Given the description of an element on the screen output the (x, y) to click on. 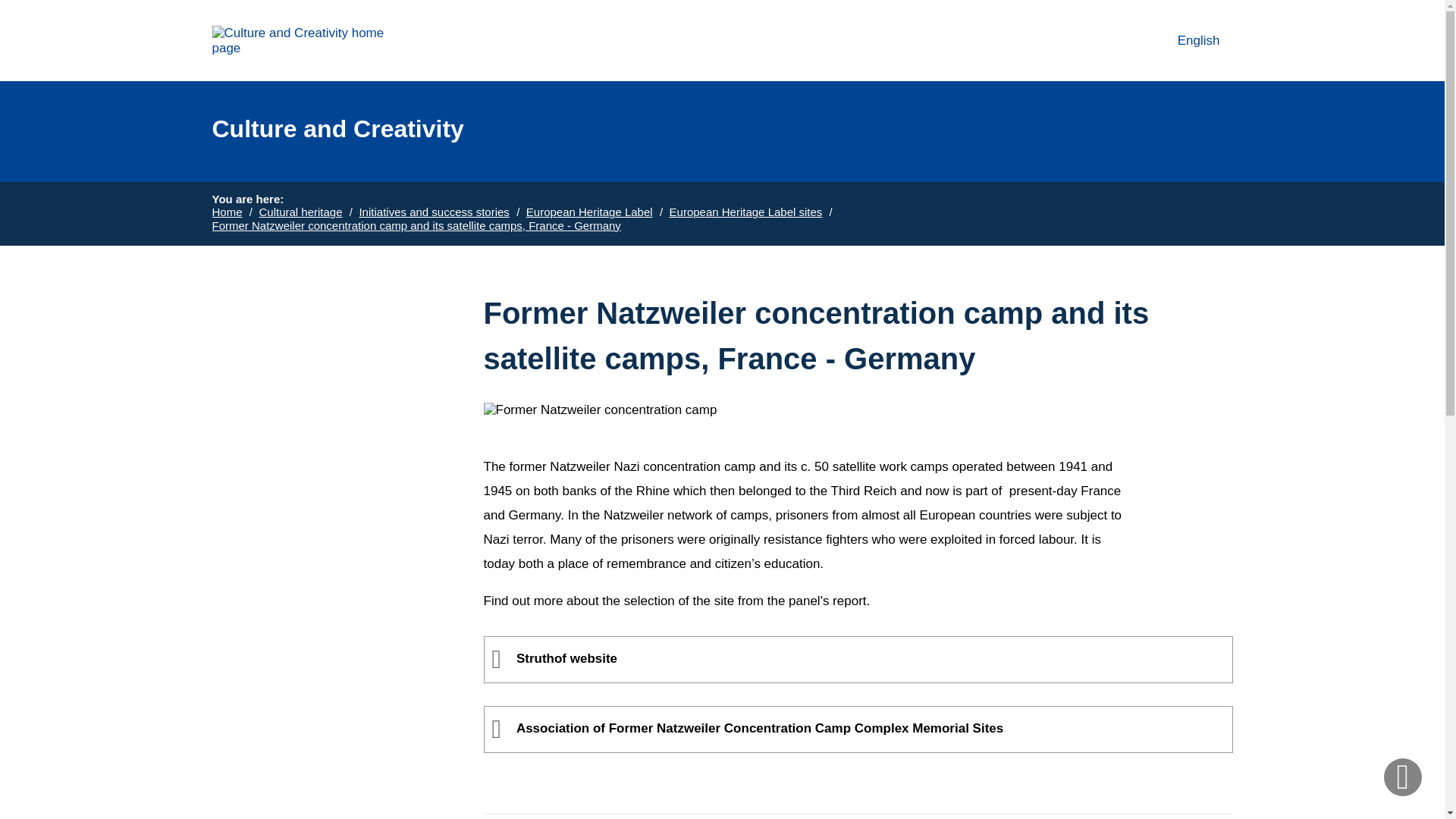
Cultural heritage (300, 211)
European Heritage Label sites (745, 211)
Struthof website (858, 659)
Struthof website (858, 659)
European Heritage Label (588, 211)
Home (227, 211)
Initiatives and success stories (1185, 40)
Skip to main content (433, 211)
